Given the description of an element on the screen output the (x, y) to click on. 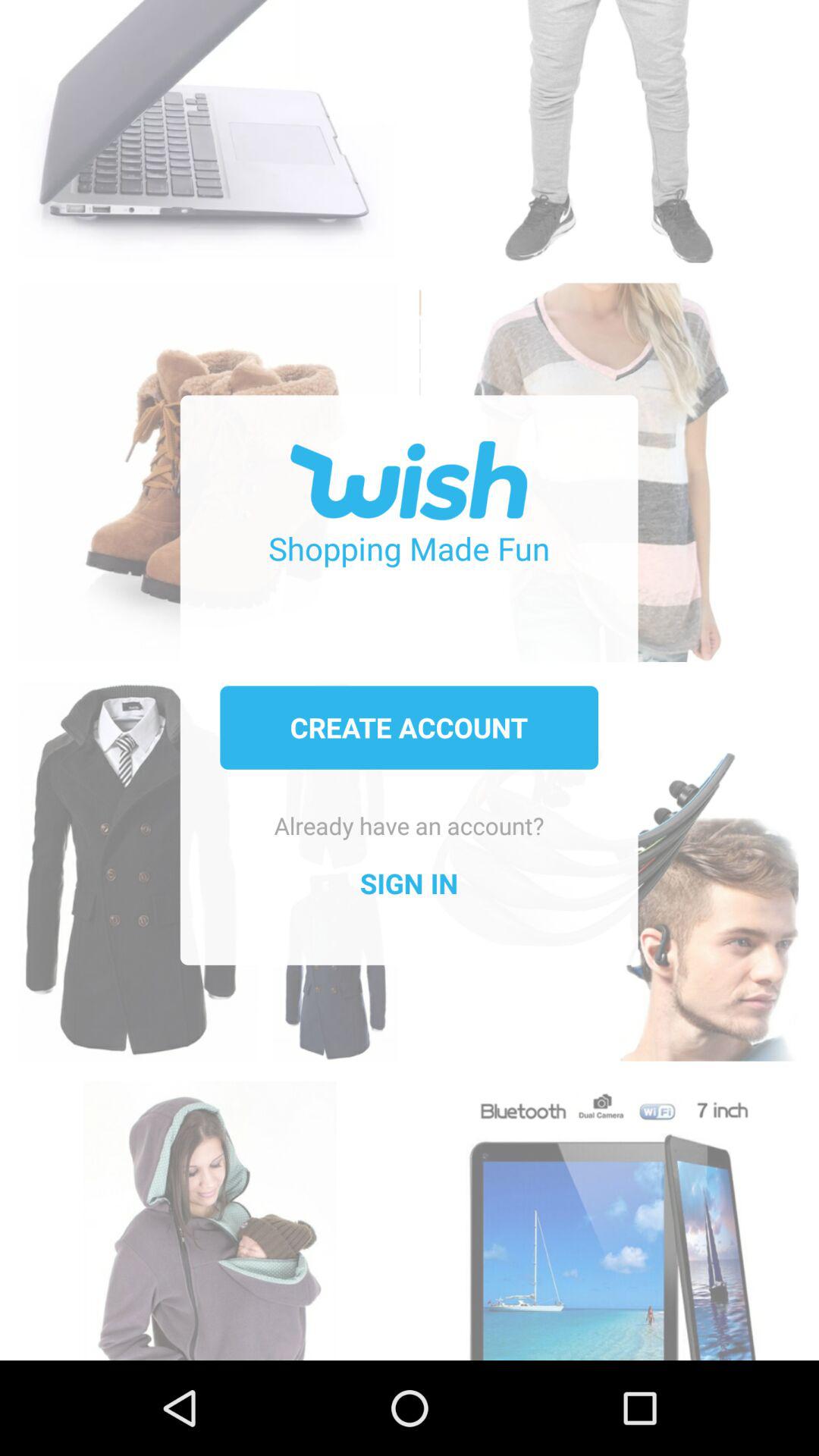
press item above the already have an item (409, 727)
